Given the description of an element on the screen output the (x, y) to click on. 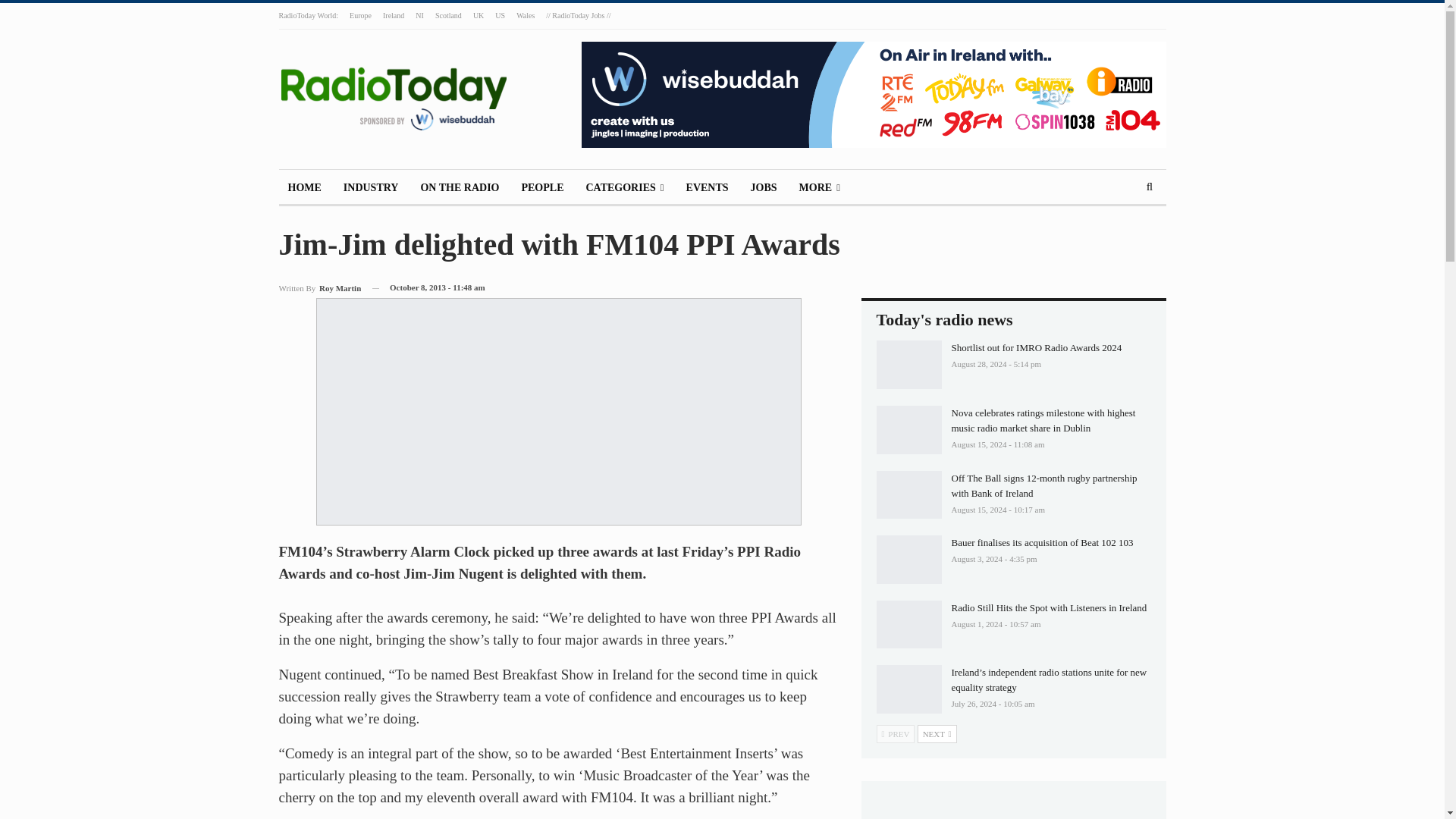
Ireland (393, 15)
JOBS (763, 187)
CATEGORIES (624, 187)
Wales (525, 15)
HOME (304, 187)
UK (478, 15)
INDUSTRY (370, 187)
Europe (360, 15)
RadioToday World: (309, 15)
MORE (819, 187)
